Given the description of an element on the screen output the (x, y) to click on. 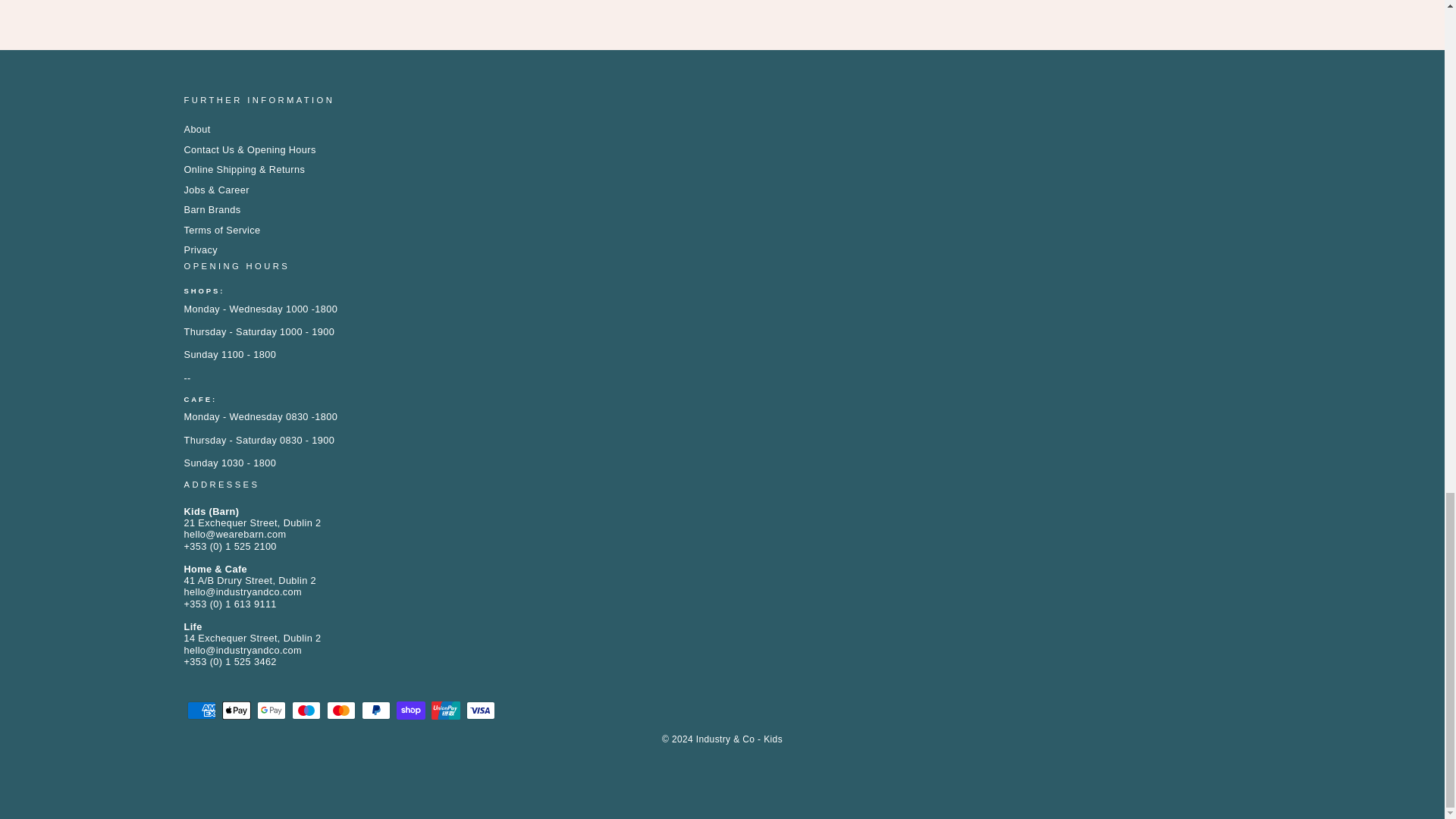
American Express (200, 710)
Mastercard (340, 710)
Google Pay (270, 710)
Visa (480, 710)
Shop Pay (410, 710)
PayPal (375, 710)
Union Pay (445, 710)
Apple Pay (235, 710)
Maestro (305, 710)
